Given the description of an element on the screen output the (x, y) to click on. 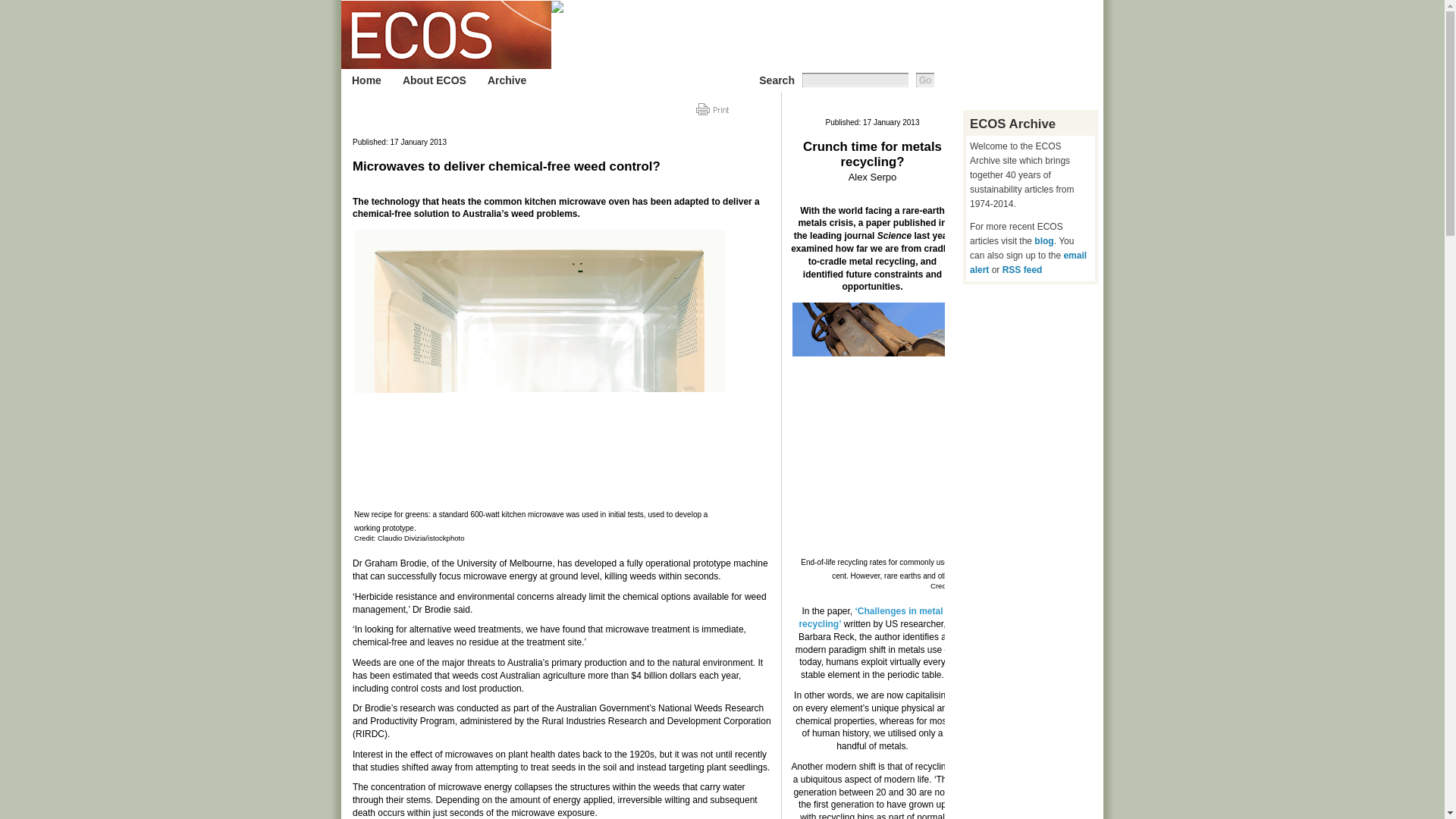
Archive (507, 80)
Go (924, 79)
Return to Ecos Home (445, 34)
About ECOS (434, 80)
email alert (1027, 262)
Go (924, 79)
RSS feed (1022, 269)
Home (365, 80)
